Given the description of an element on the screen output the (x, y) to click on. 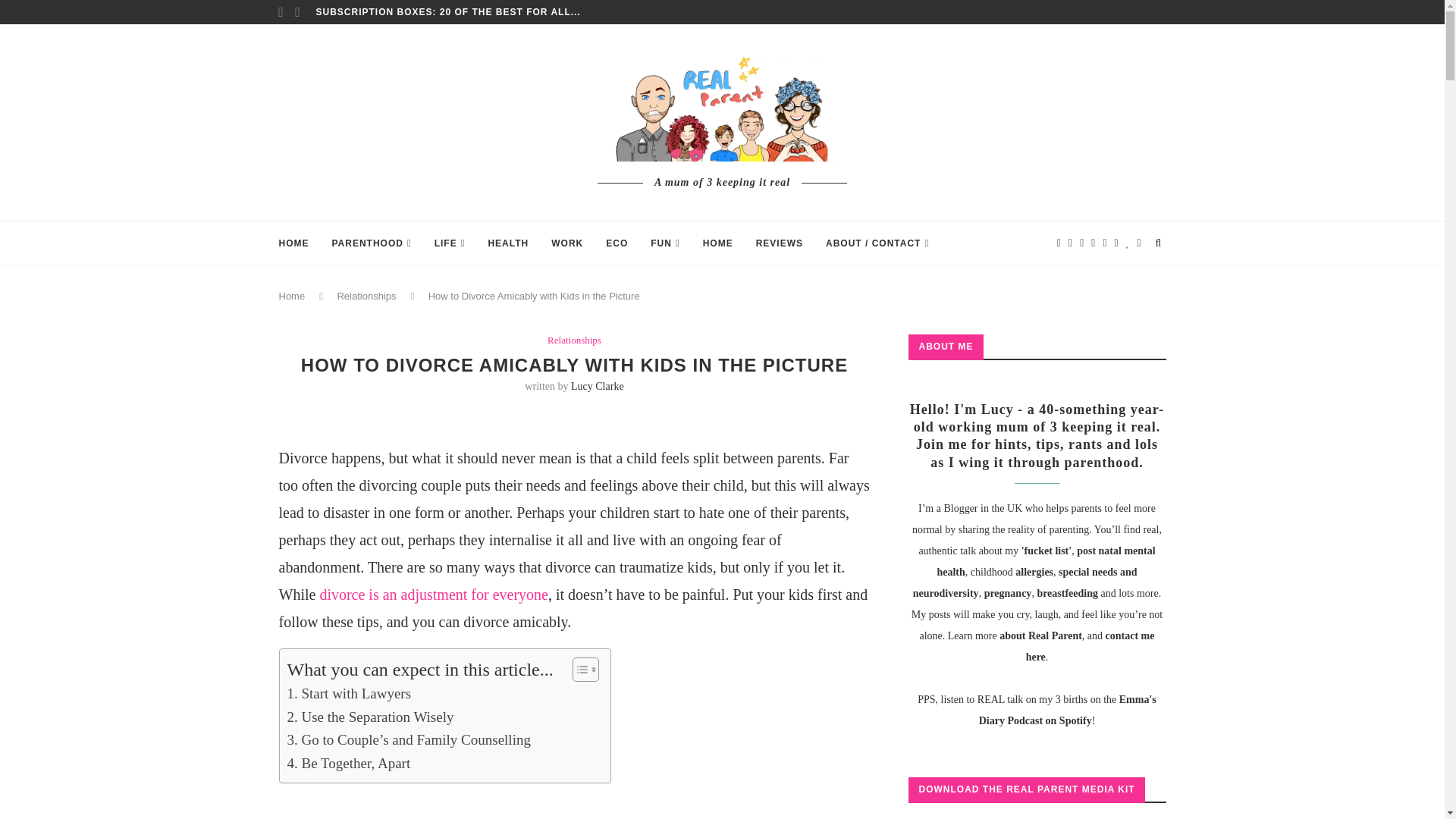
1. Start with Lawyers (348, 693)
4. Be Together, Apart (348, 763)
SUBSCRIPTION BOXES: 20 OF THE BEST FOR ALL... (447, 12)
2. Use the Separation Wisely (369, 716)
